Given the description of an element on the screen output the (x, y) to click on. 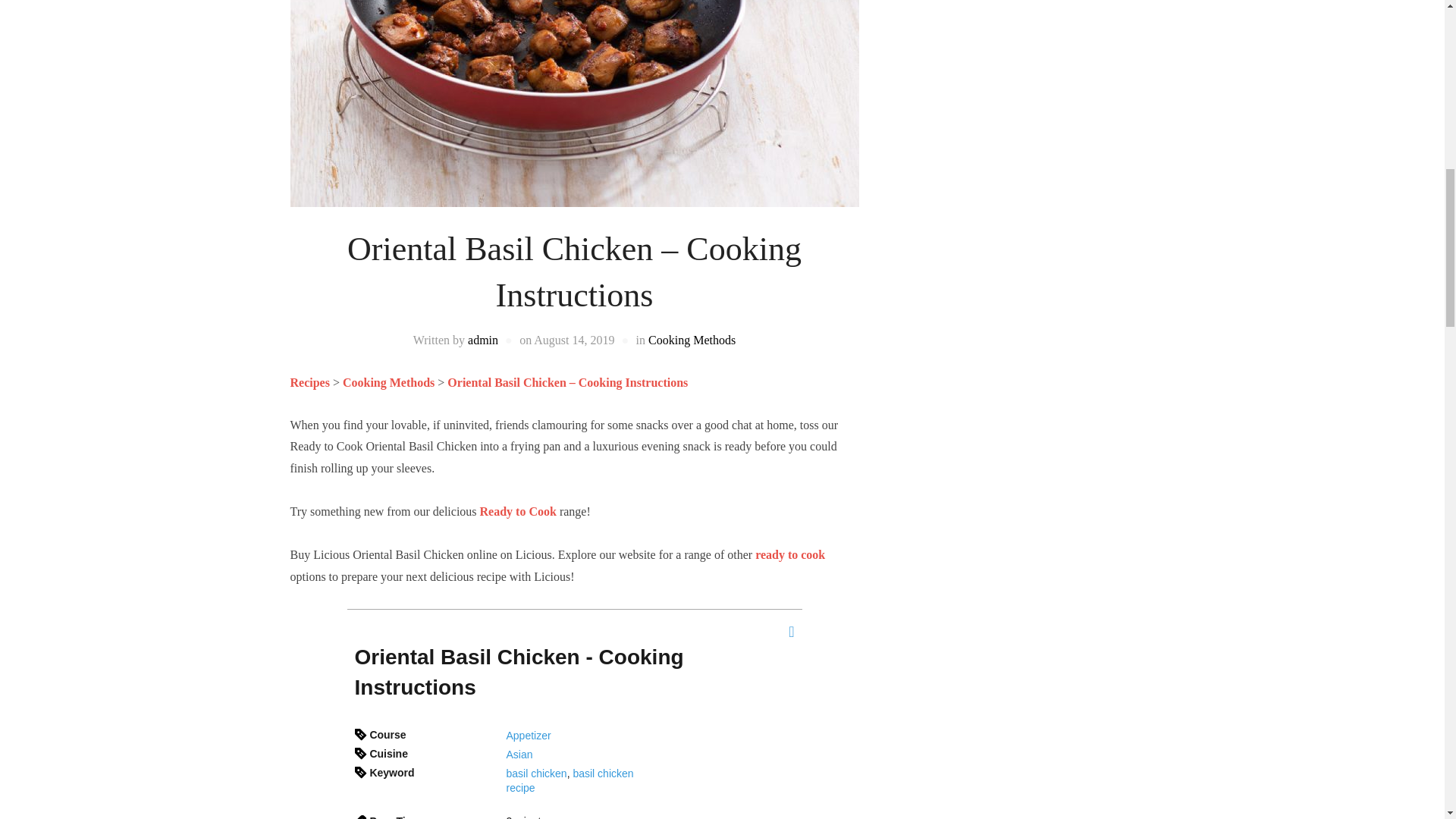
Go to the Cooking Methods Category archives. (387, 382)
Ready to Cook (518, 511)
Recipes (309, 382)
Cooking Methods (691, 339)
Cooking Methods (387, 382)
admin (482, 339)
Posts by admin (482, 339)
Go to Recipes. (309, 382)
basil chicken (536, 773)
Appetizer (528, 735)
basil chicken recipe (569, 780)
Asian (519, 754)
ready to cook (790, 554)
